Given the description of an element on the screen output the (x, y) to click on. 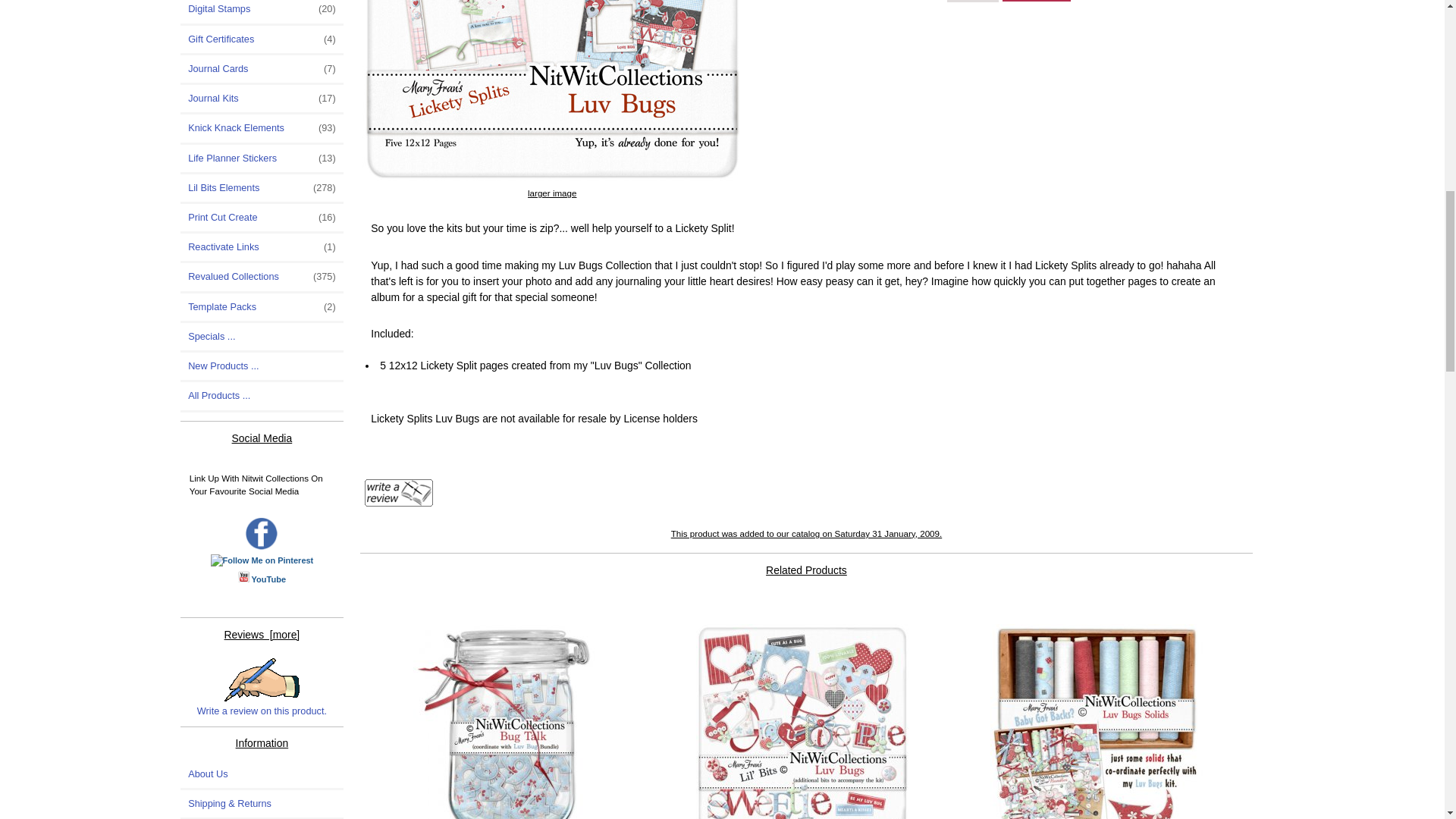
1 (972, 1)
Write a review on this product. (261, 679)
Luv Bugs Solids (1096, 721)
Lickety Splits - Luv Bugs Pack (551, 92)
New Products ... (261, 366)
Write a review on this product. (261, 688)
Lil Bits - Luv Bugs (801, 721)
All Products ... (261, 395)
About Us (261, 773)
Write Review (398, 492)
Specials ... (261, 336)
Add to Cart (1034, 0)
Alphawit - Bug Talk (506, 721)
YouTube (268, 579)
